Given the description of an element on the screen output the (x, y) to click on. 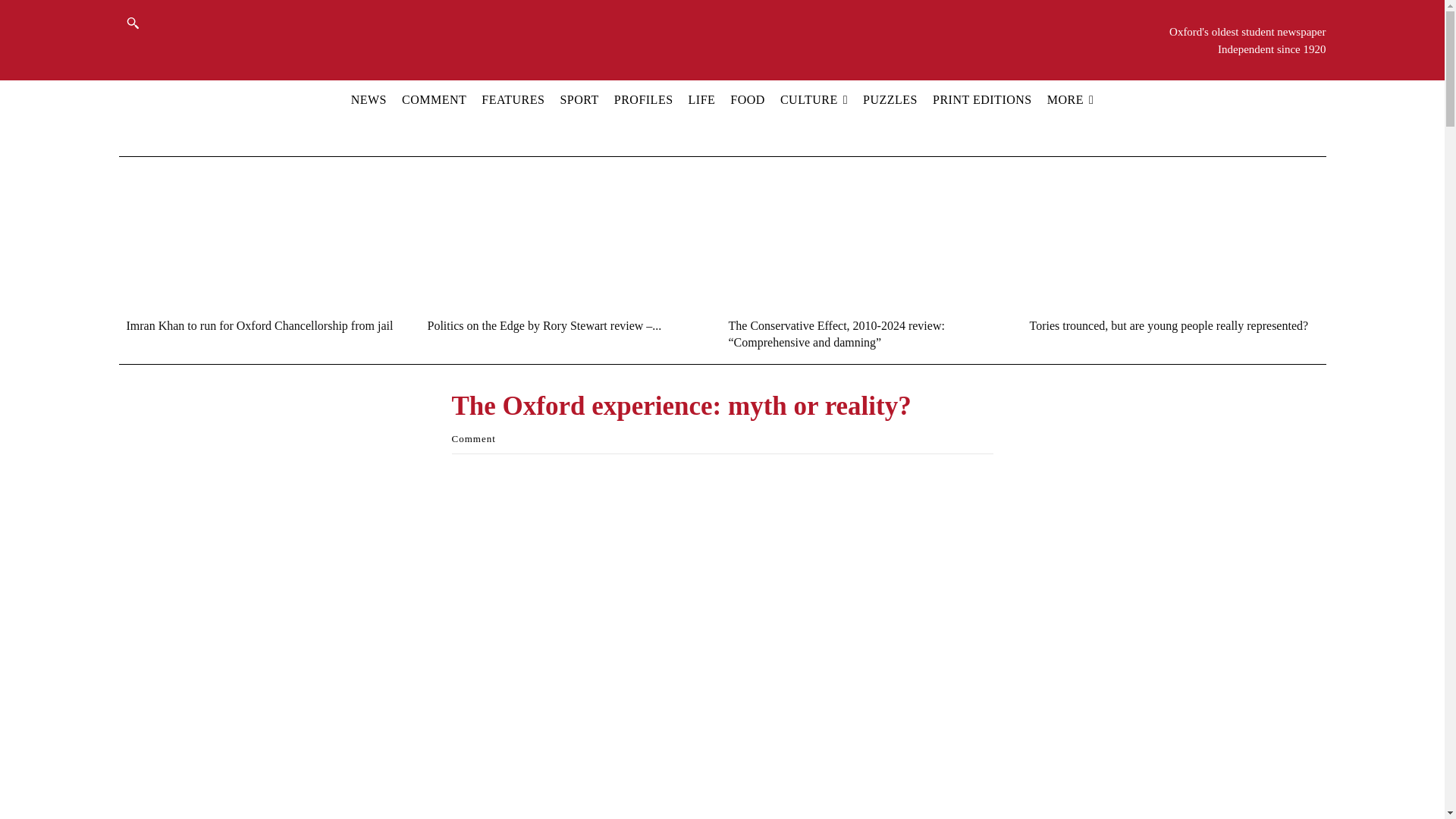
COMMENT (433, 99)
Imran Khan to run for Oxford Chancellorship from jail (260, 235)
FEATURES (512, 99)
PROFILES (643, 99)
Imran Khan to run for Oxford Chancellorship from jail (259, 325)
LIFE (701, 99)
FOOD (747, 99)
Tories trounced, but are young people really represented? (1168, 325)
View all posts in Comment (473, 438)
NEWS (368, 99)
CULTURE (813, 99)
Tories trounced, but are young people really represented? (1164, 235)
SPORT (579, 99)
